Given the description of an element on the screen output the (x, y) to click on. 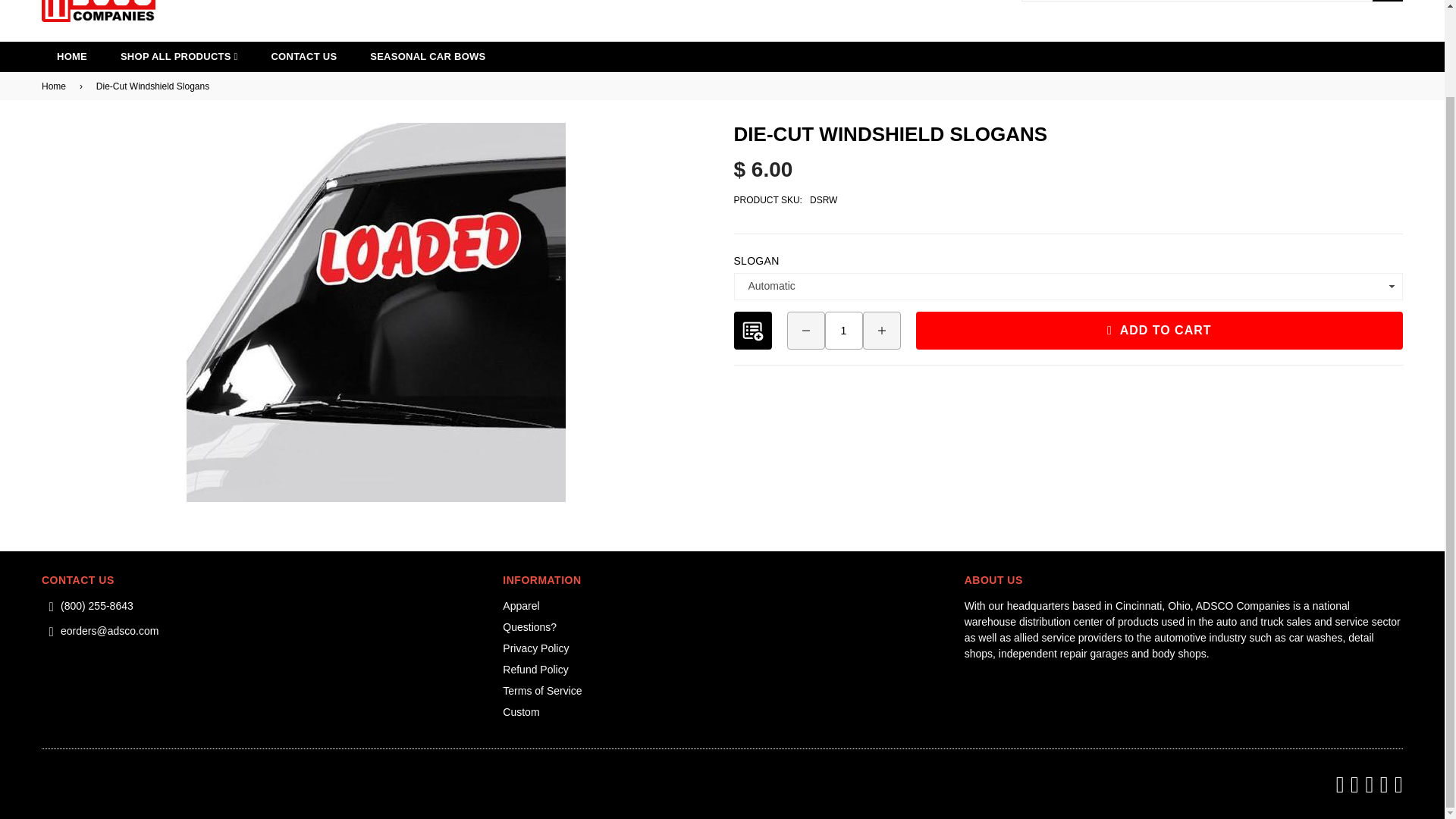
Back to the home page (56, 86)
Quantity (844, 330)
CONTACT US (304, 56)
SEASONAL CAR BOWS (427, 56)
1 (844, 330)
SHOP ALL PRODUCTS (178, 56)
SUBMIT (1388, 0)
HOME (71, 56)
